Given the description of an element on the screen output the (x, y) to click on. 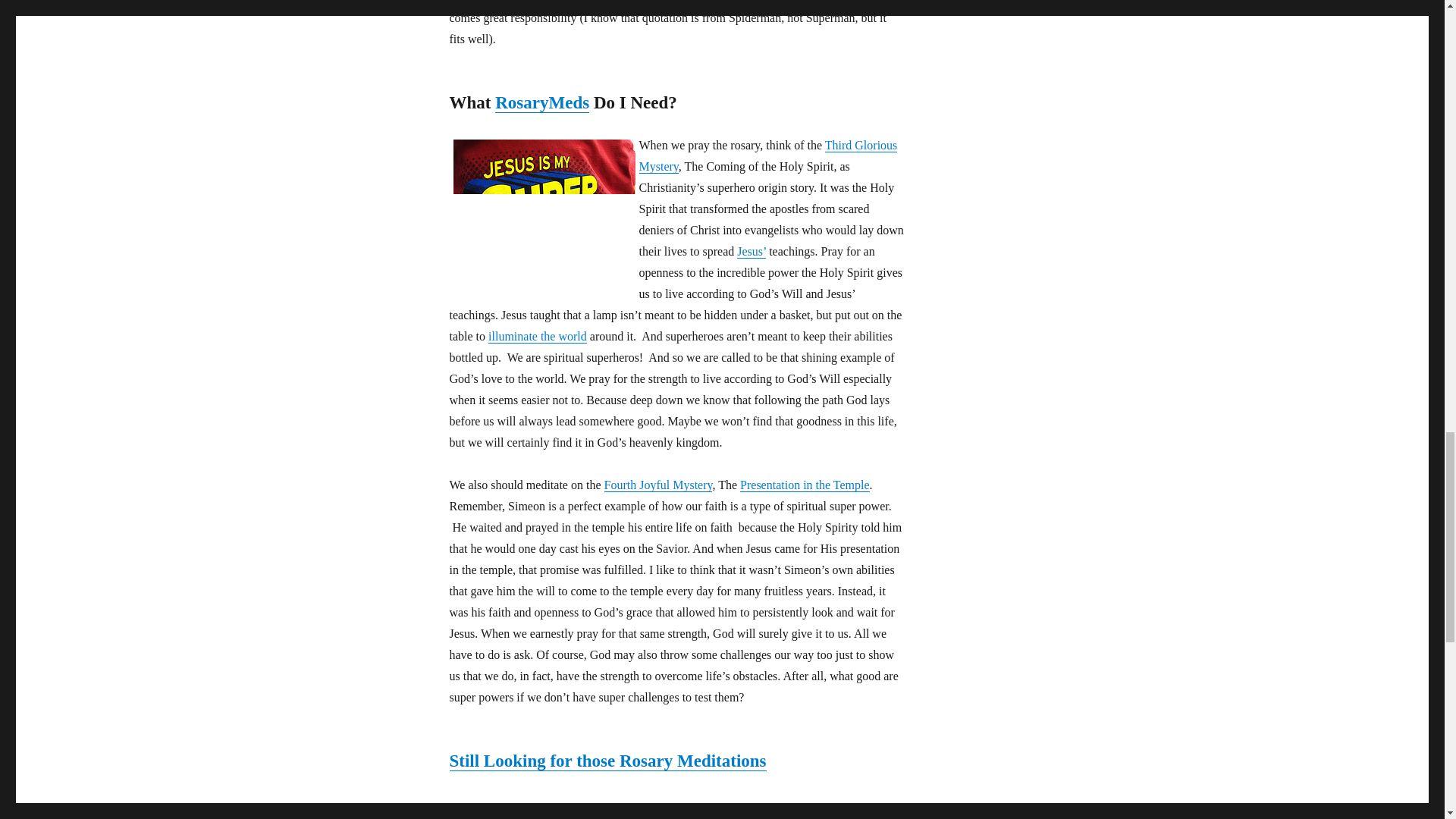
RosaryMeds (542, 102)
Amateur Night: How the Media Covers the Catholic Church (767, 155)
Jesus (750, 250)
Still Looking for those Rosary Meditations (606, 760)
Presentation of Jesus at the Temple (804, 484)
Fourth Joyful Mystery (657, 484)
Presentation in the Temple (804, 484)
Jesus is my Super Hero (543, 207)
illuminate the world (536, 336)
Third Glorious Mystery (767, 155)
Submit a Rosary Meditation (606, 760)
